Given the description of an element on the screen output the (x, y) to click on. 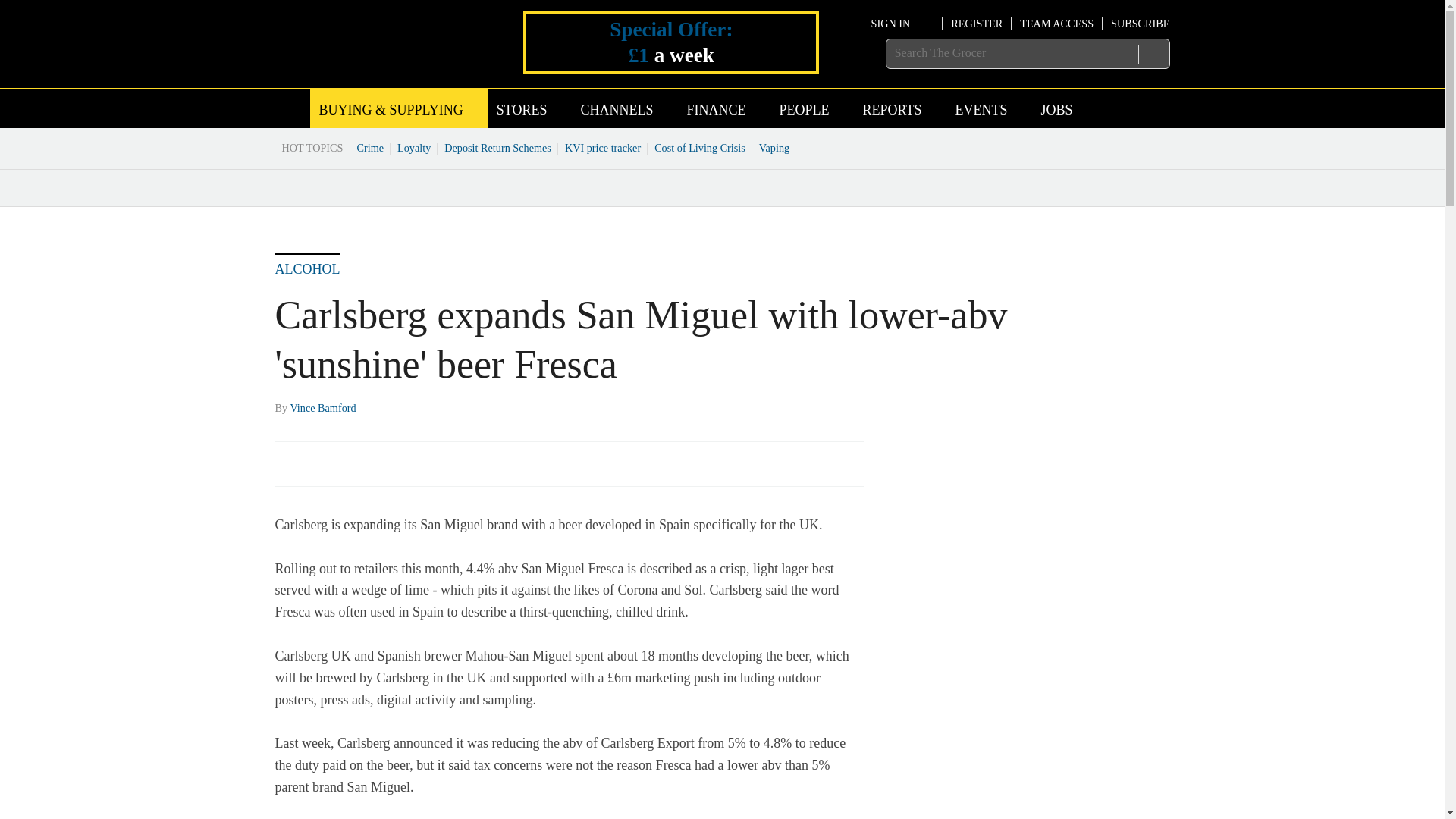
No comments (840, 472)
Vaping (774, 147)
Email this article (386, 462)
SIGN IN (902, 23)
Share this on Facebook (288, 462)
Loyalty (414, 147)
SEARCH (1153, 53)
Crime (370, 147)
Deposit Return Schemes (497, 147)
Share this on Linked in (352, 462)
